Given the description of an element on the screen output the (x, y) to click on. 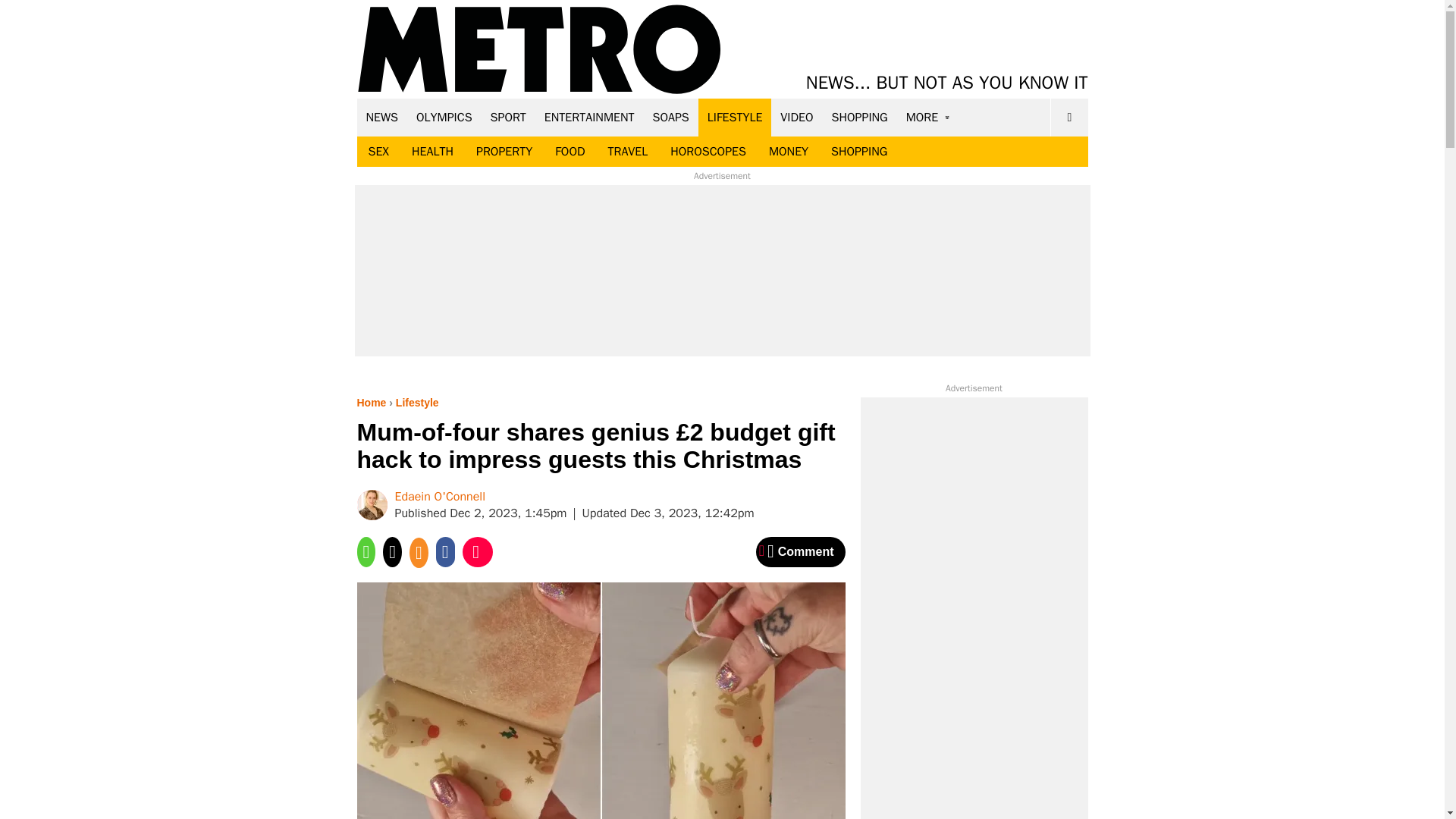
PROPERTY (503, 151)
OLYMPICS (444, 117)
Metro (539, 50)
ENTERTAINMENT (589, 117)
SEX (377, 151)
NEWS (381, 117)
FOOD (569, 151)
LIFESTYLE (734, 117)
SPORT (508, 117)
HEALTH (432, 151)
